Given the description of an element on the screen output the (x, y) to click on. 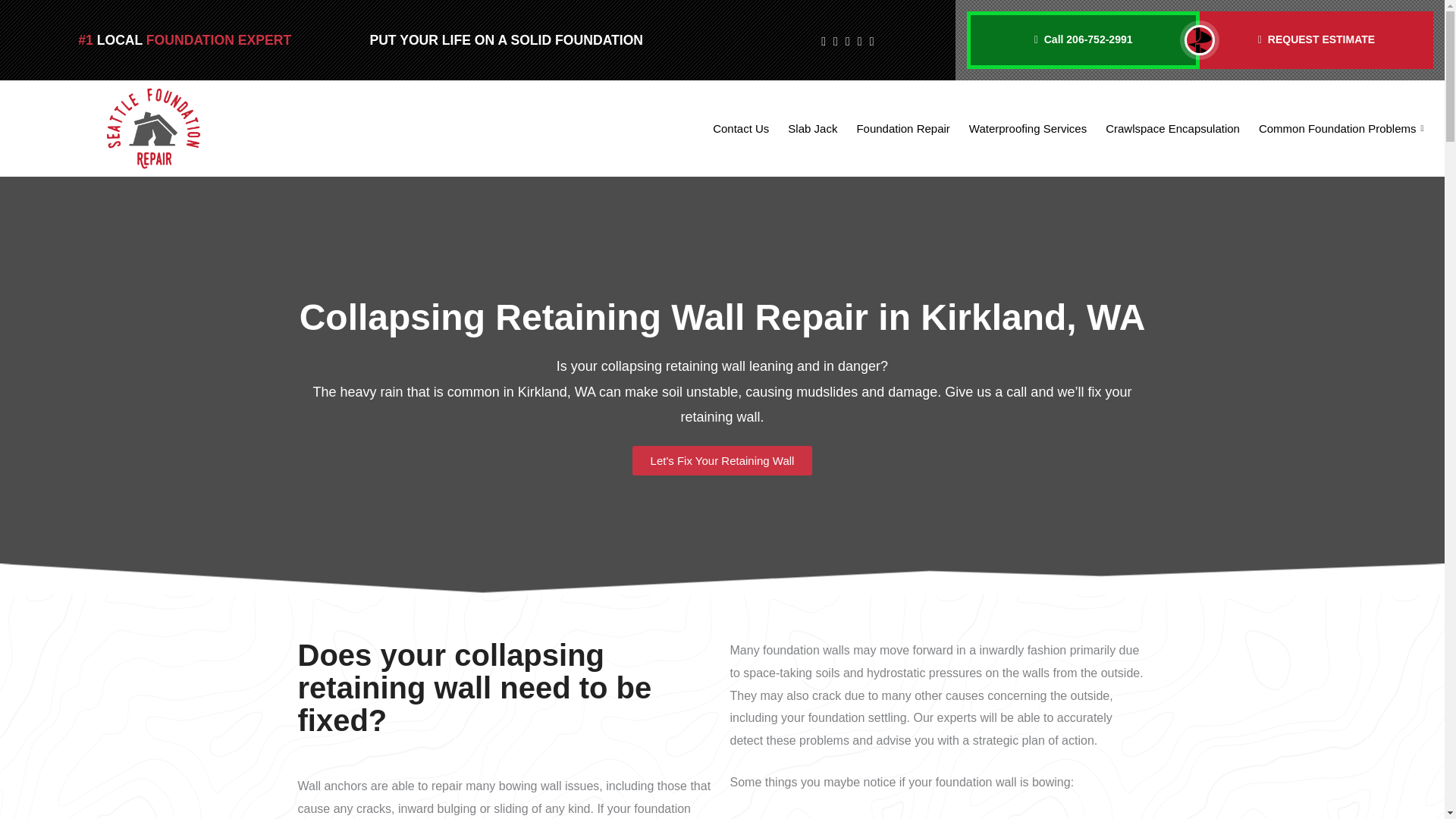
Waterproofing Services (1021, 128)
Call 206-752-2991 (1082, 39)
Crawlspace Encapsulation (1166, 128)
Foundation Repair (897, 128)
REQUEST ESTIMATE (1315, 39)
Slab Jack (807, 128)
Contact Us (735, 128)
Common Foundation Problems (1337, 128)
